Given the description of an element on the screen output the (x, y) to click on. 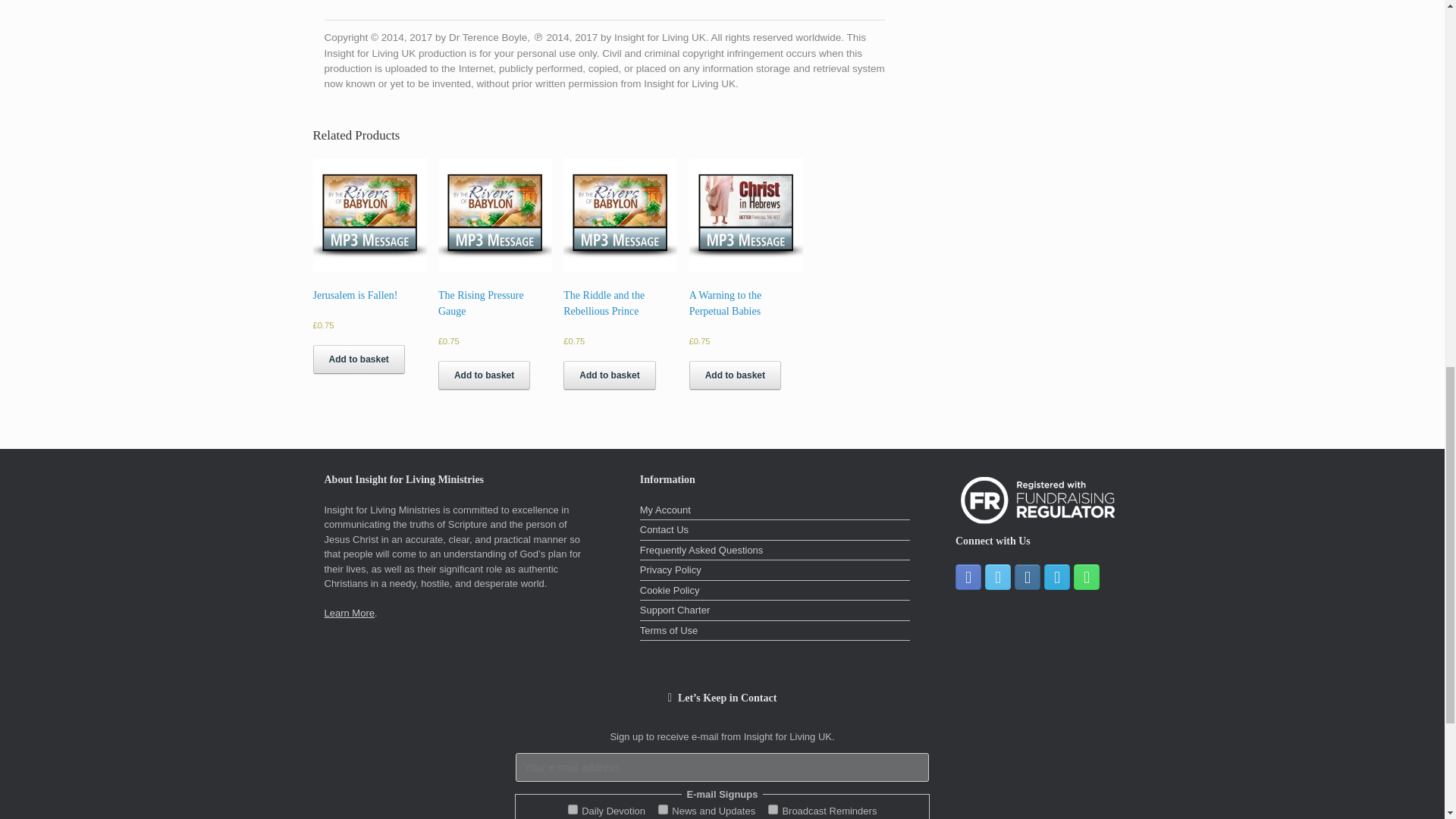
1381f3c142 (572, 809)
8aa1cd39e9 (663, 809)
Insight for Living UK Instagram (1027, 576)
Insight for Living UK Facebook (968, 576)
Insight for Living UK Phone (1086, 576)
f2dd2ce7c2 (772, 809)
Insight for Living UK E-mail (1056, 576)
